Given the description of an element on the screen output the (x, y) to click on. 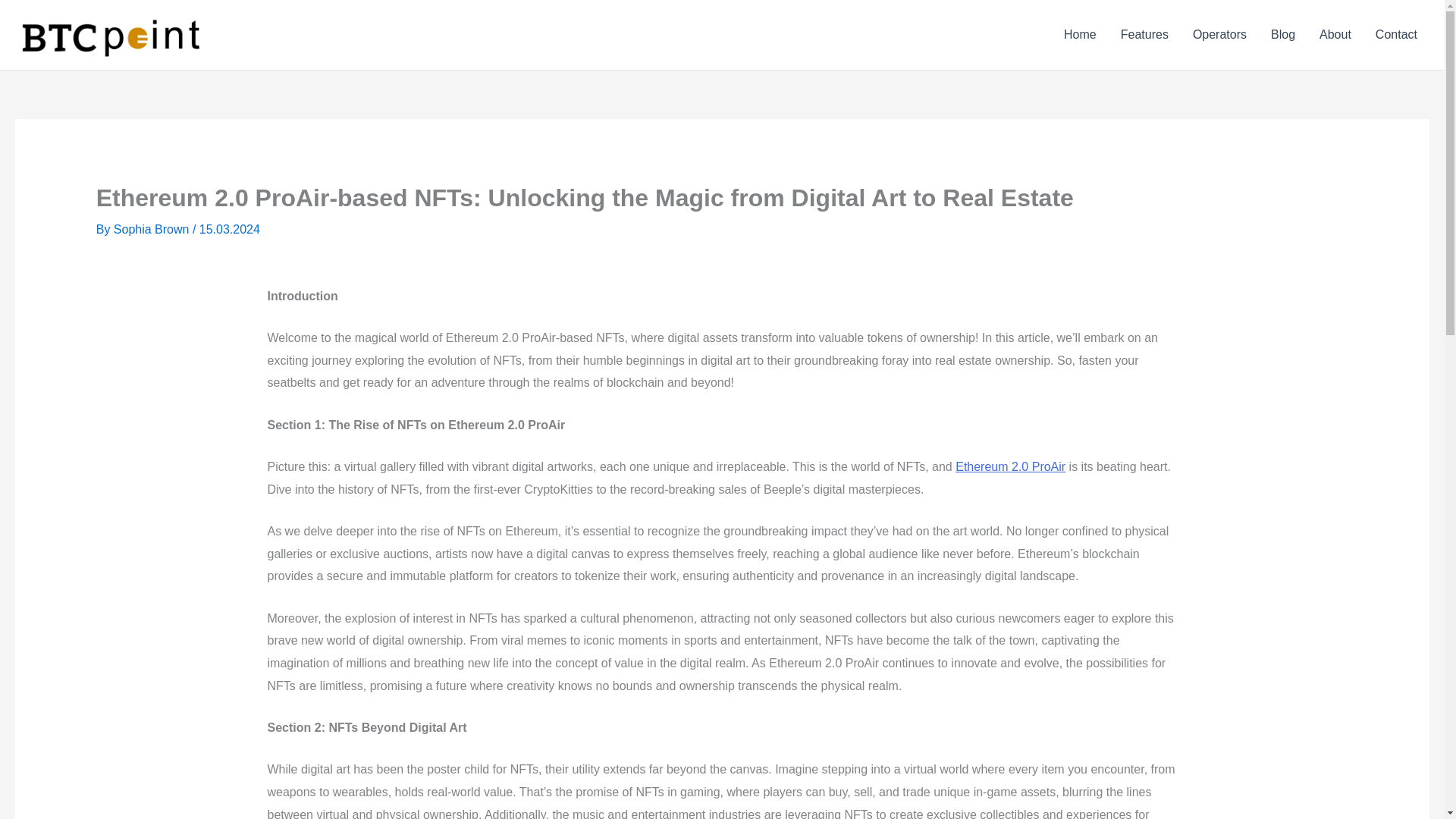
Contact (1395, 34)
About (1334, 34)
Features (1144, 34)
View all posts by Sophia Brown (152, 228)
Bitcoin ATM (273, 33)
Ethereum 2.0 ProAir (1010, 466)
Home (1079, 34)
Operators (1219, 34)
Sophia Brown (152, 228)
